Given the description of an element on the screen output the (x, y) to click on. 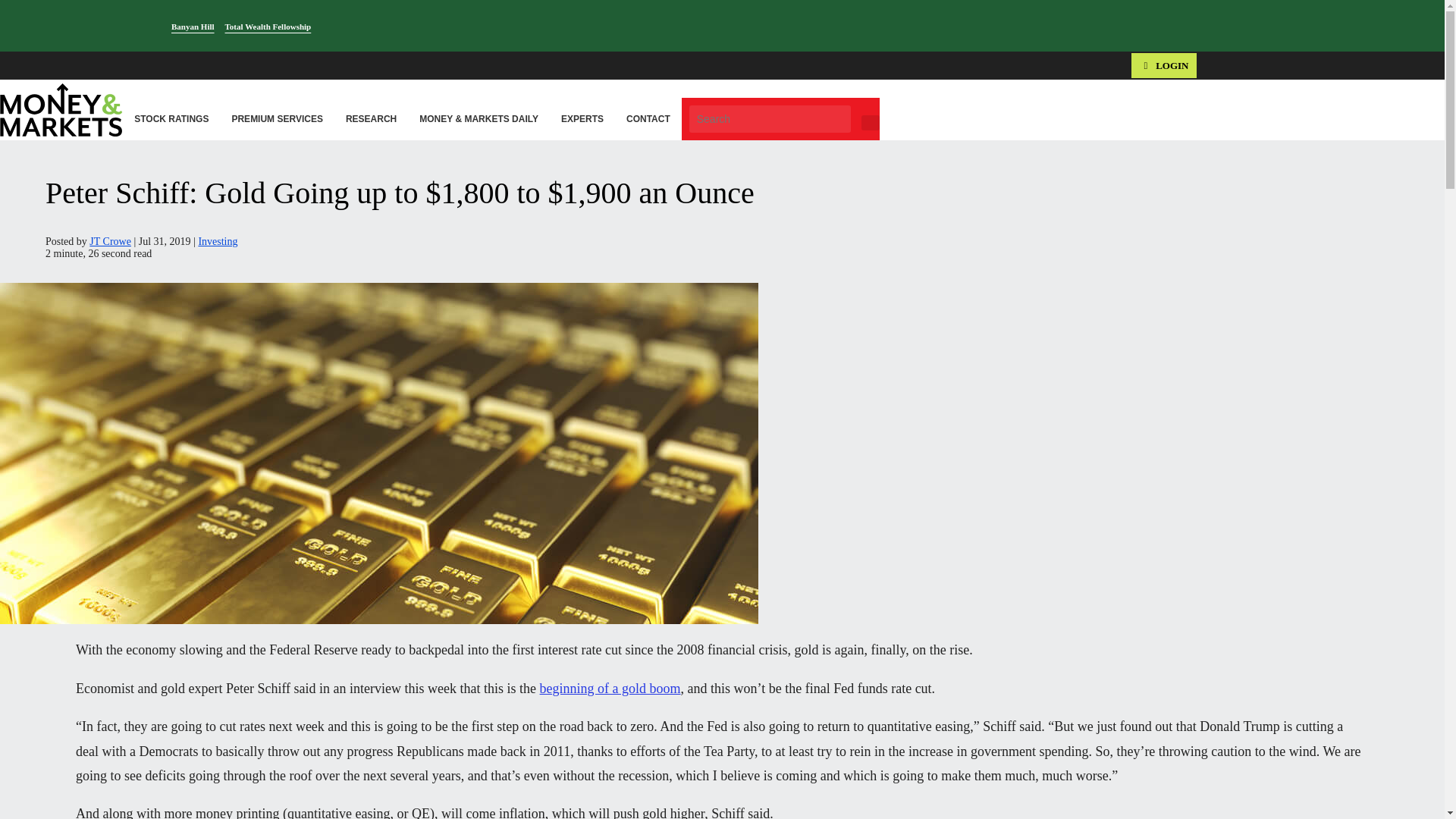
Home (13, 101)
CONTACT (647, 118)
EXPERTS (582, 118)
Investing (217, 241)
Investor News (69, 101)
STOCK RATINGS (170, 118)
Banyan Hill (192, 26)
Search for: (769, 118)
beginning of a gold boom (610, 688)
JT Crowe (109, 241)
